Given the description of an element on the screen output the (x, y) to click on. 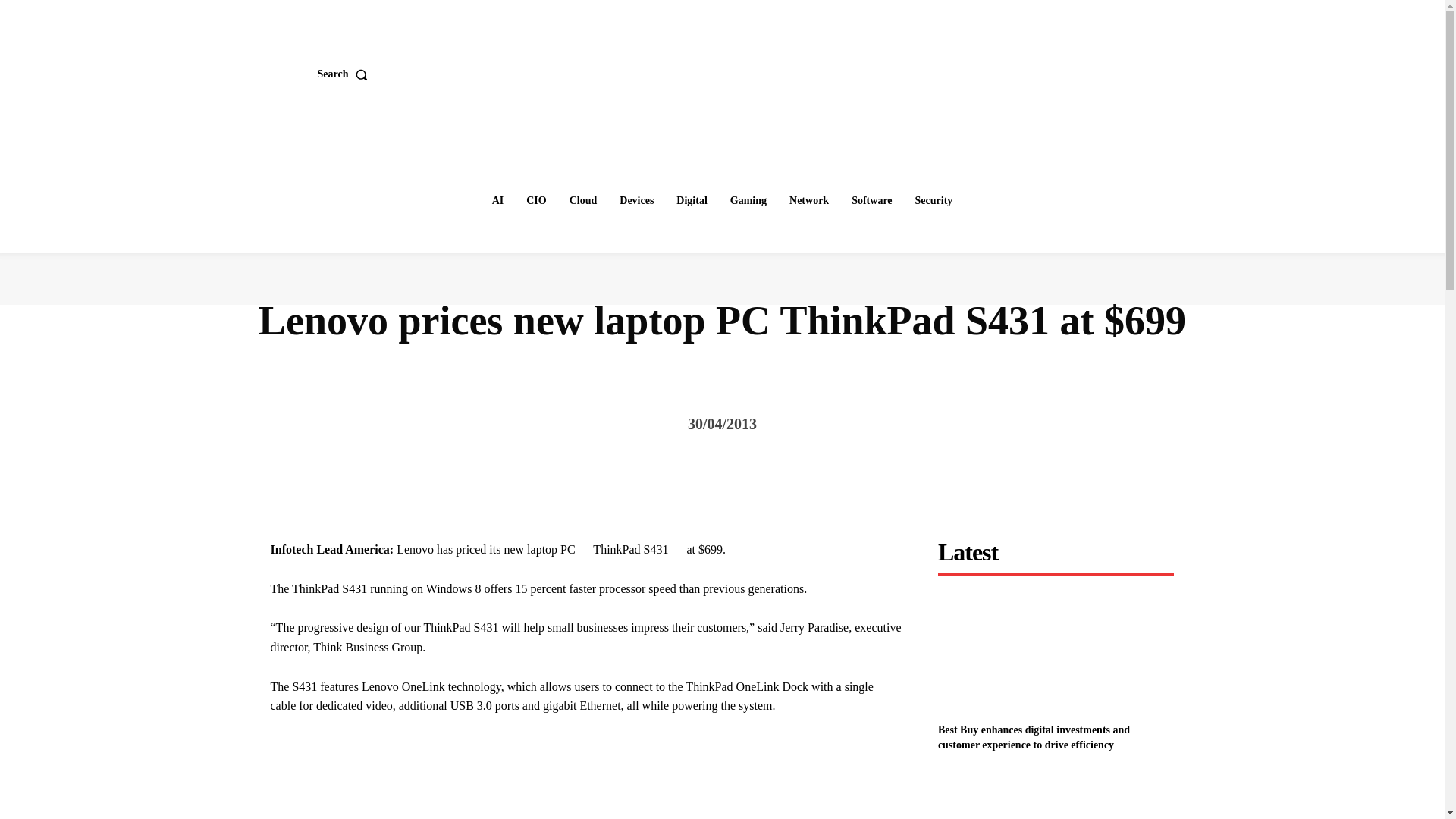
CIO (535, 201)
Search (345, 74)
Cloud (583, 201)
